Given the description of an element on the screen output the (x, y) to click on. 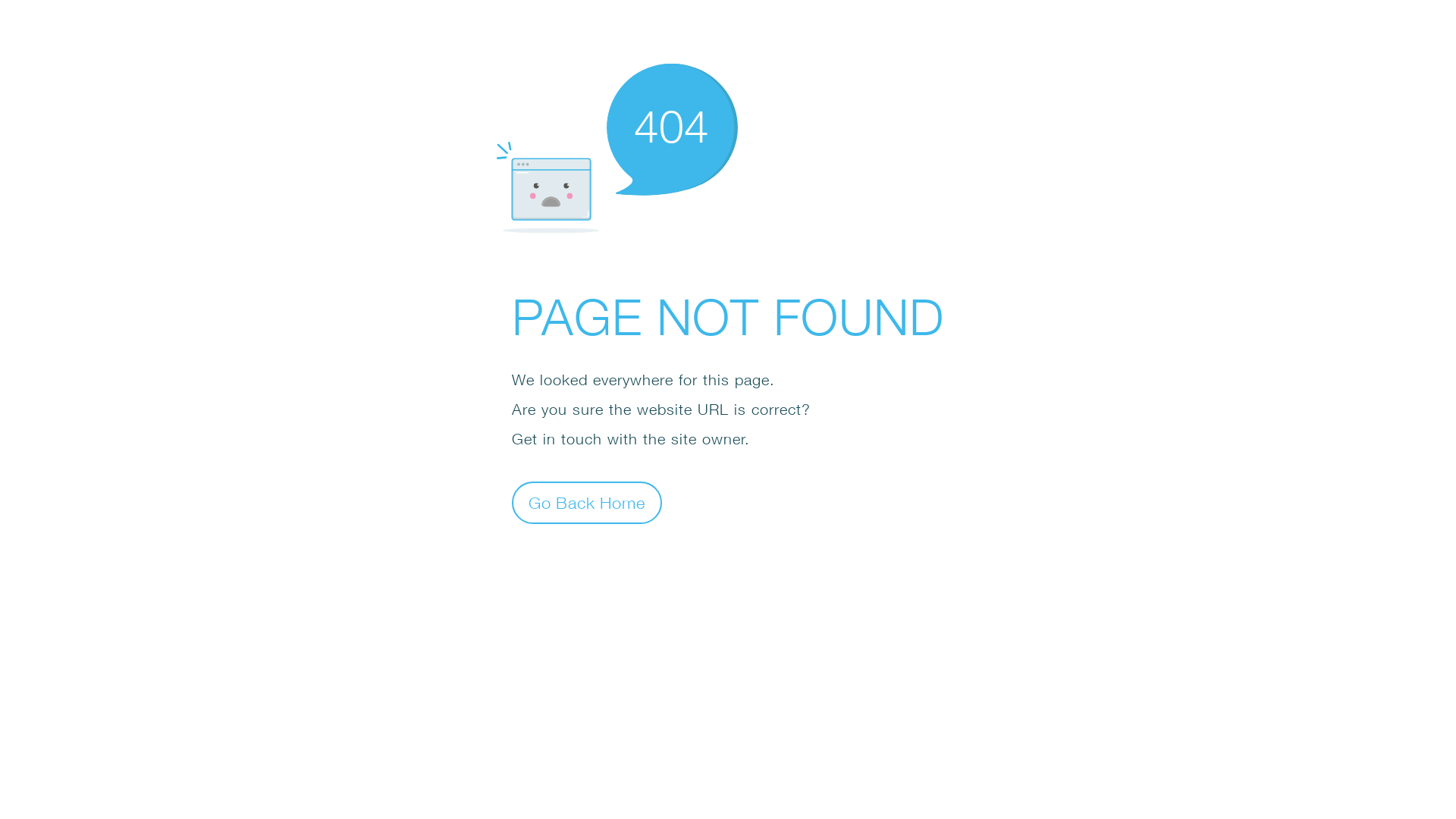
Go Back Home Element type: text (586, 502)
